Given the description of an element on the screen output the (x, y) to click on. 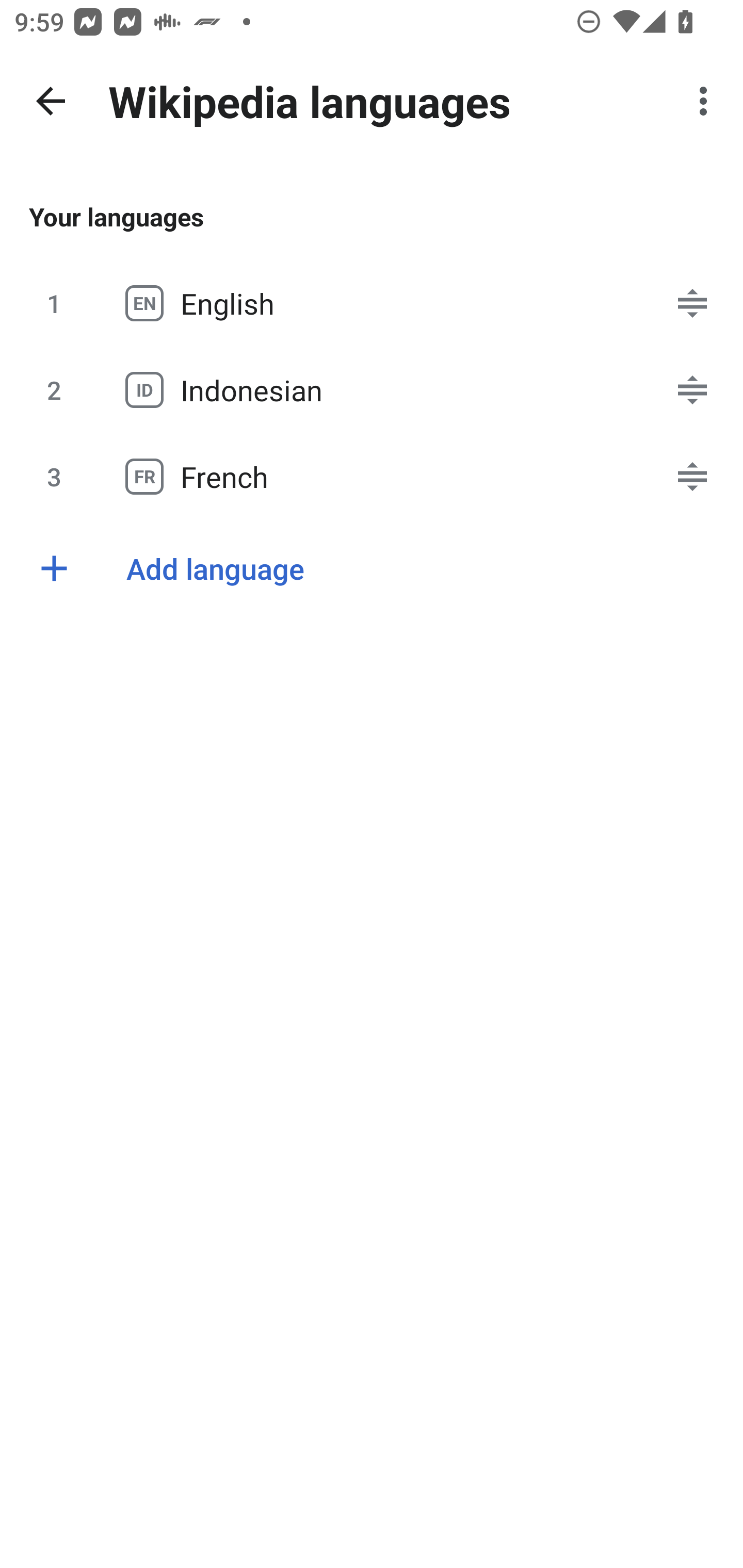
Navigate up (50, 101)
More options (706, 101)
1 EN English (371, 303)
2 ID Indonesian (371, 389)
3 FR French (371, 476)
Add language (371, 568)
